Given the description of an element on the screen output the (x, y) to click on. 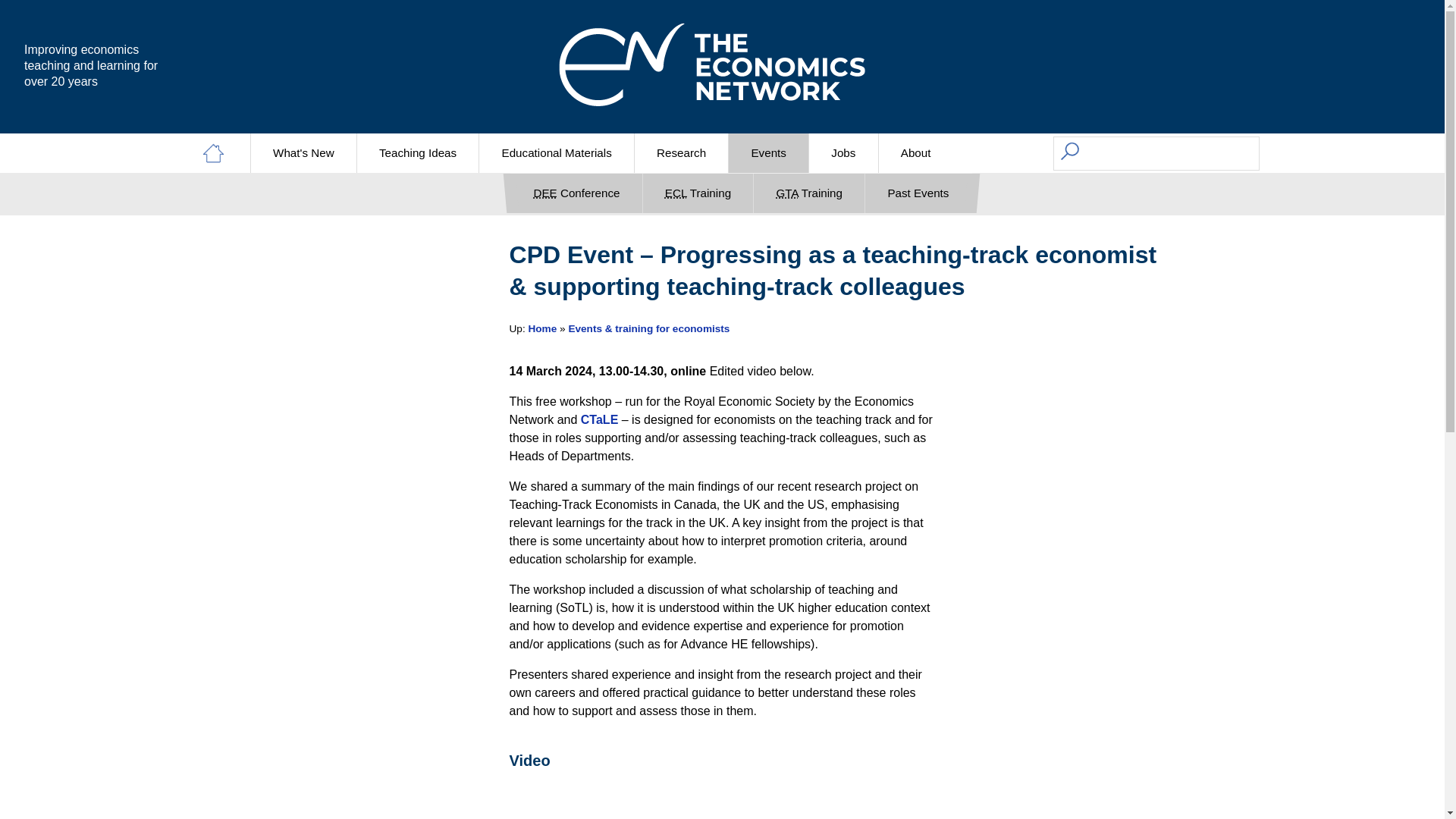
What's New (303, 152)
Research (681, 152)
Jobs (843, 152)
Past Events (917, 193)
Events (768, 152)
GTA Training (809, 193)
Graduate Teaching Assistant (786, 192)
CTaLE (598, 419)
Search (103, 17)
YouTube video player (721, 802)
